Given the description of an element on the screen output the (x, y) to click on. 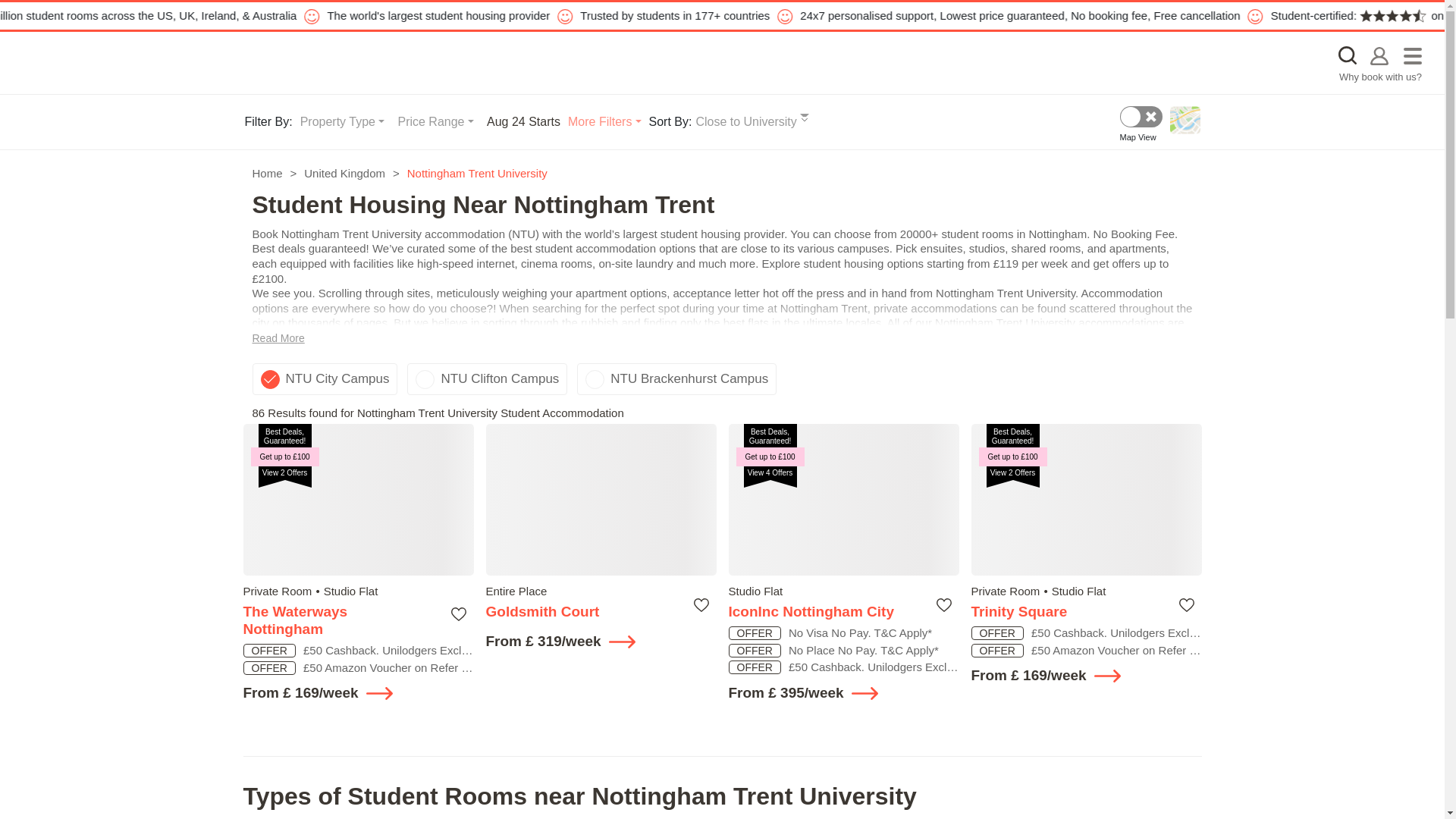
Loading interface... (358, 499)
Entire Place (515, 591)
user settings (1379, 55)
Loading interface... (600, 499)
Studio Flat (755, 591)
Private Room (277, 591)
Unilodgers (141, 62)
Loading interface... (600, 499)
Loading interface... (843, 499)
